Given the description of an element on the screen output the (x, y) to click on. 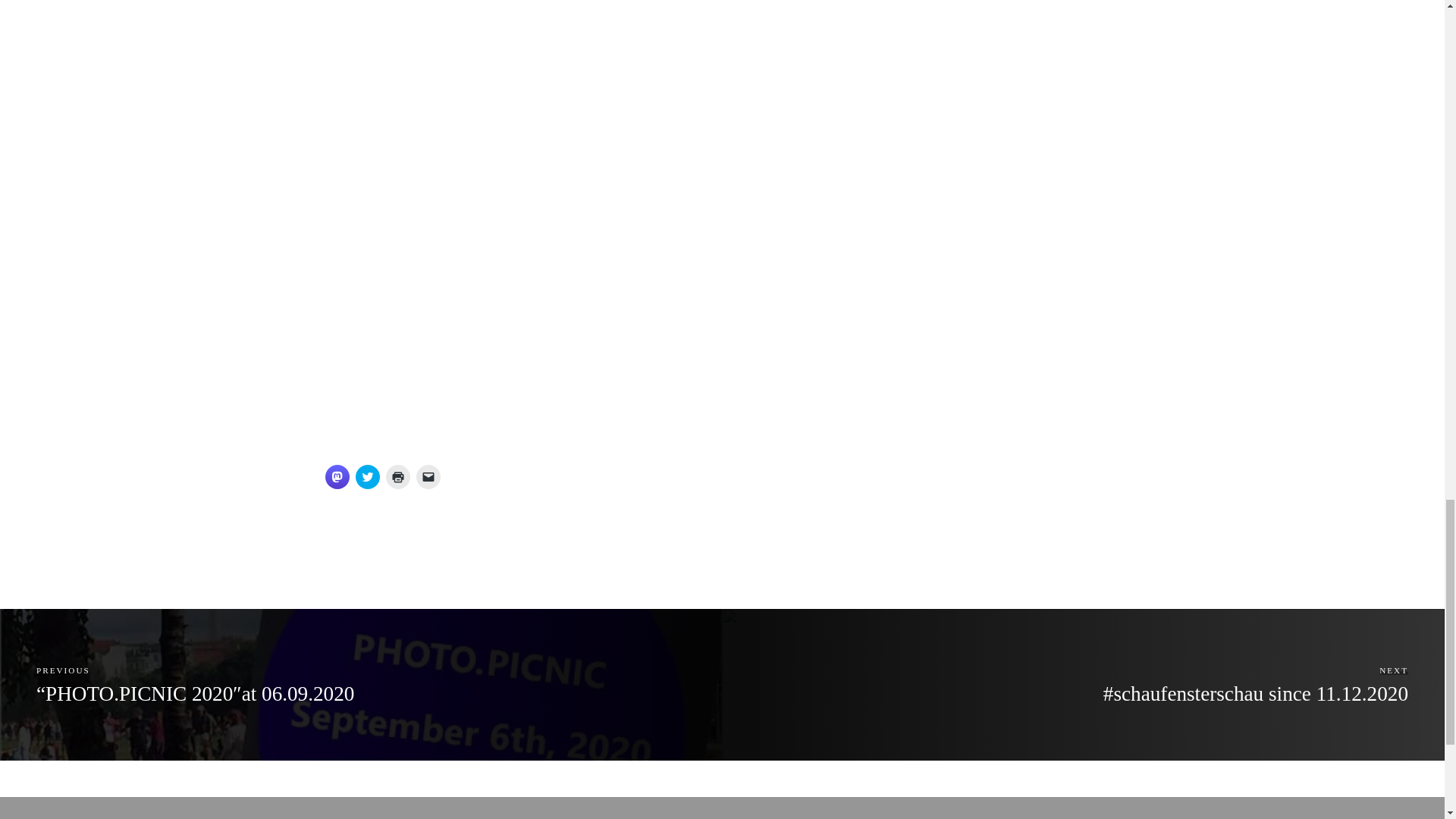
Click to email a link to a friend (426, 476)
Click to share on Mastodon (336, 476)
Click to share on Twitter (366, 476)
Click to print (397, 476)
